Given the description of an element on the screen output the (x, y) to click on. 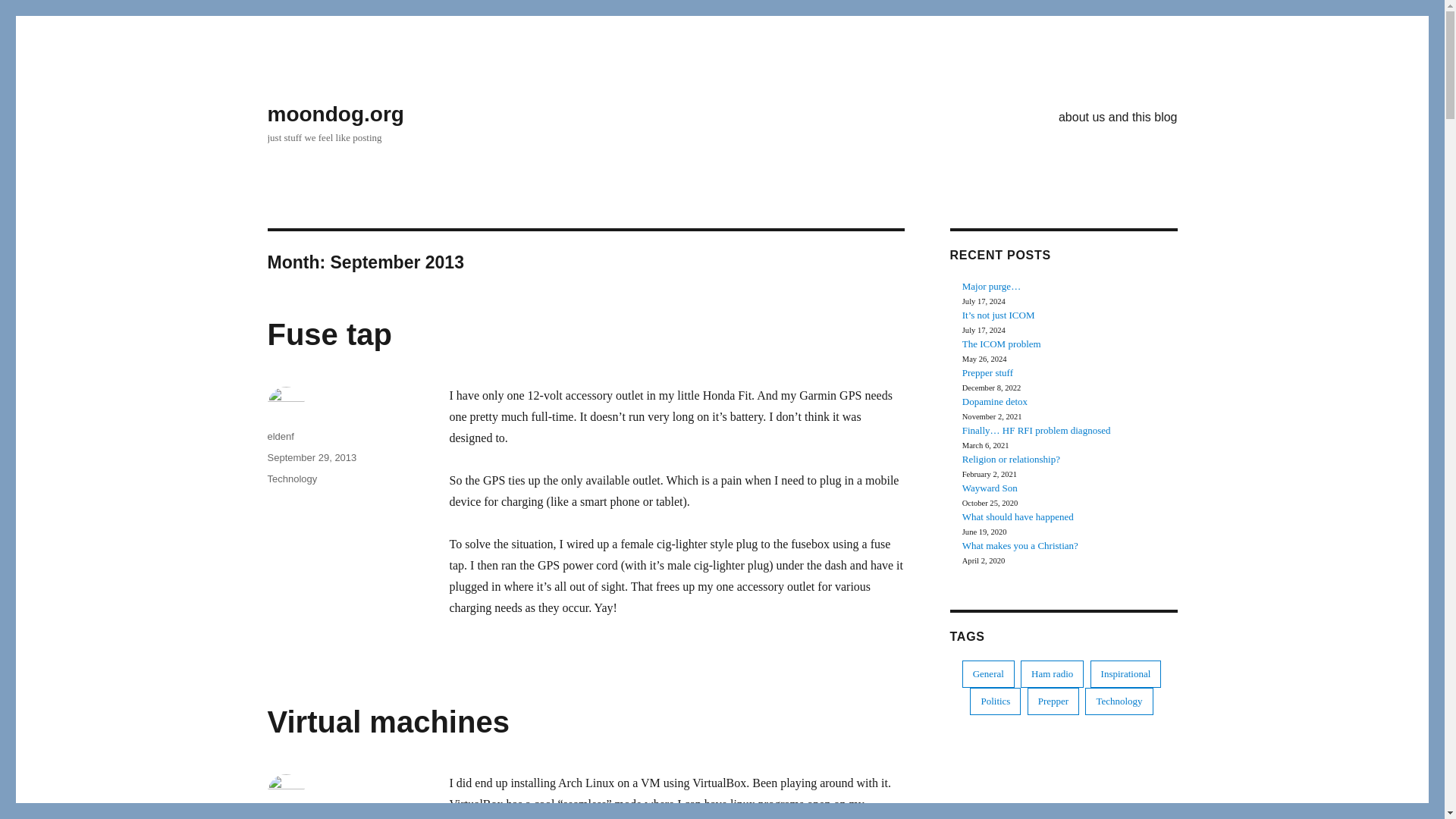
Technology (291, 478)
September 29, 2013 (311, 457)
eldenf (280, 436)
Virtual machines (387, 721)
Fuse tap (328, 334)
moondog.org (334, 114)
Prepper stuff (987, 372)
about us and this blog (1118, 116)
Dopamine detox (994, 401)
